Given the description of an element on the screen output the (x, y) to click on. 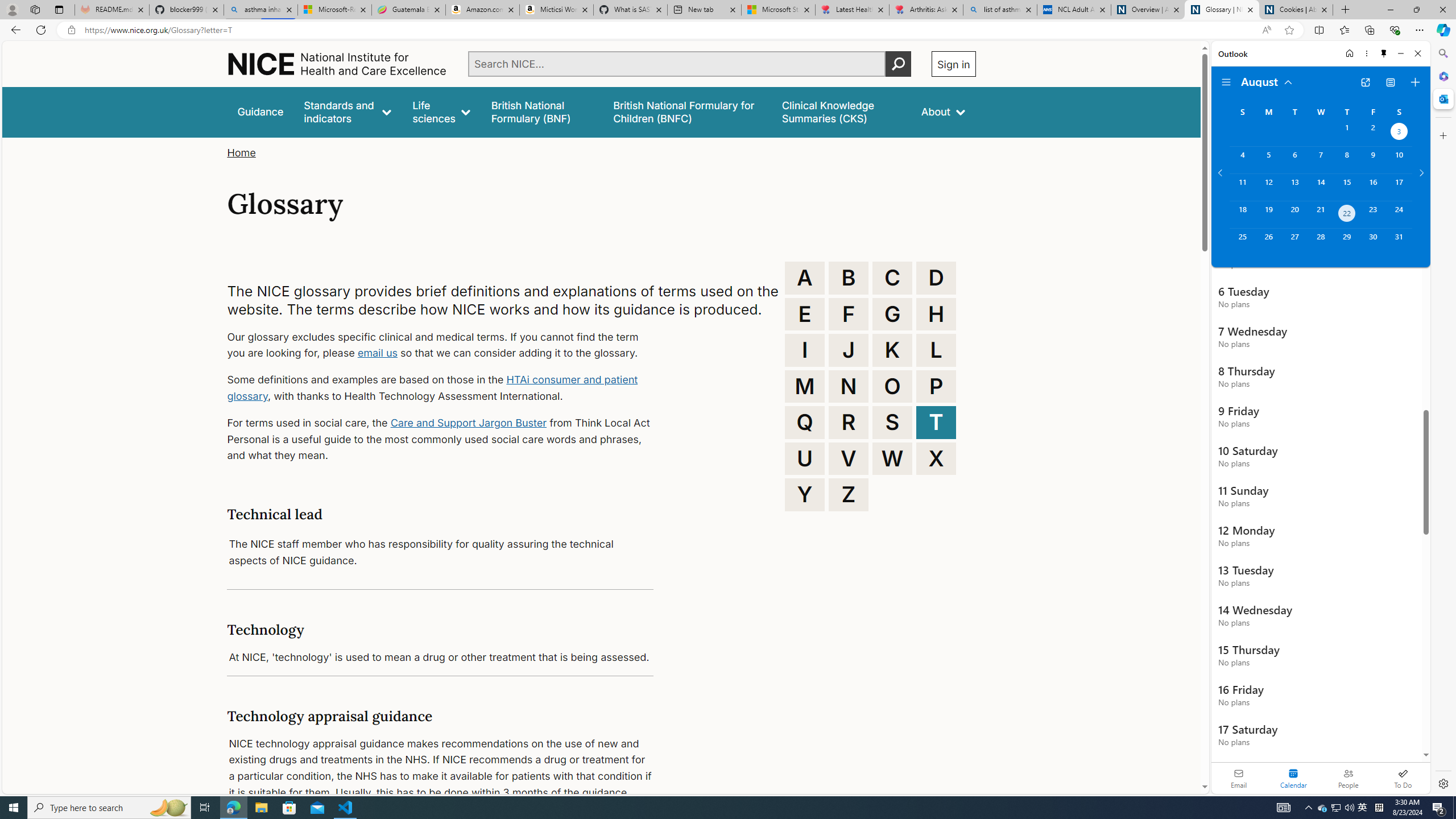
V (848, 458)
Guidance (260, 111)
S (892, 422)
HTAi consumer and patient glossary (432, 387)
Care and Support Jargon Buster (468, 422)
C (892, 277)
August (1267, 80)
